Given the description of an element on the screen output the (x, y) to click on. 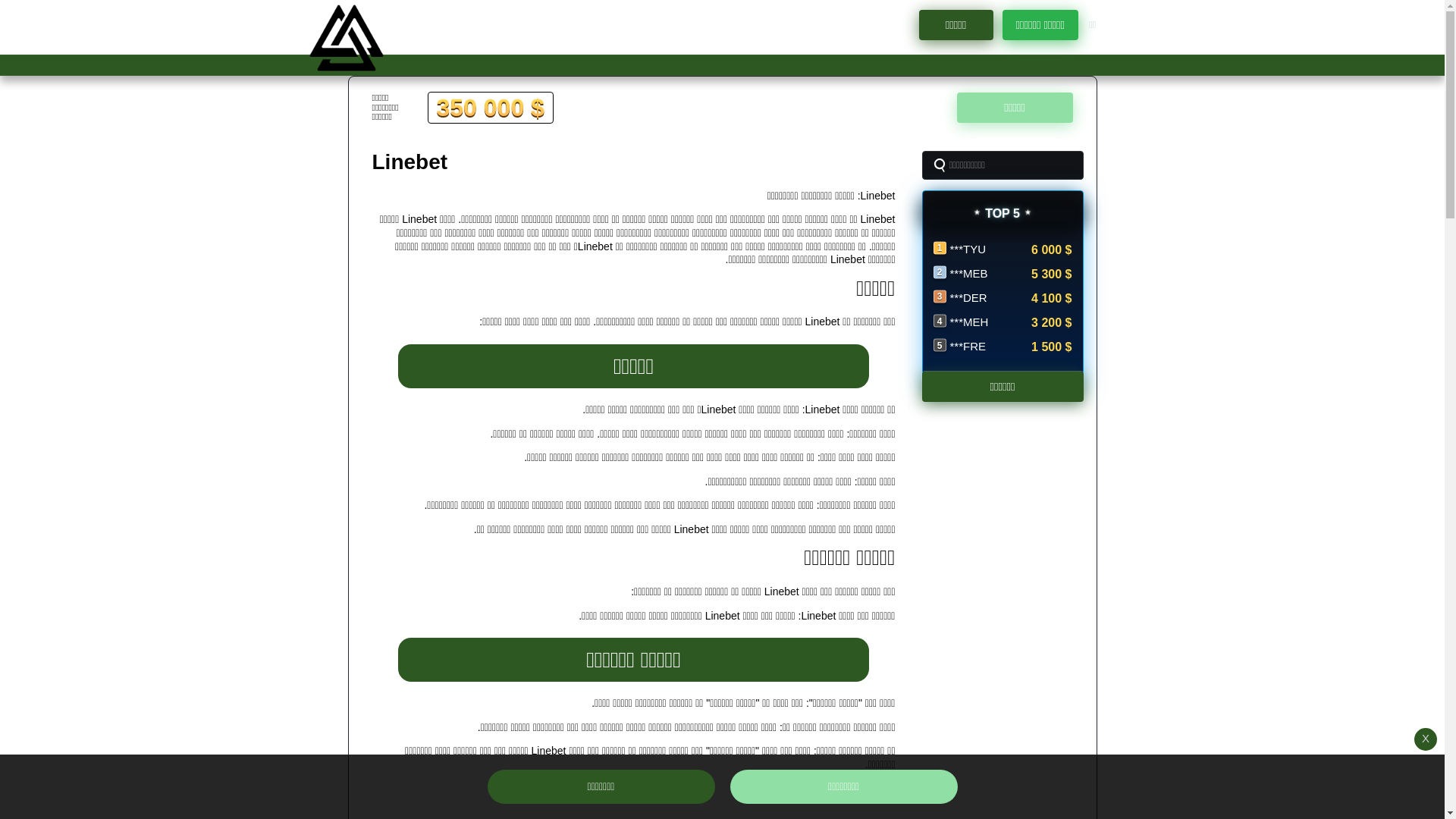
1 Element type: text (731, 59)
casino Element type: hover (345, 37)
350 000 $ Element type: text (490, 107)
